Given the description of an element on the screen output the (x, y) to click on. 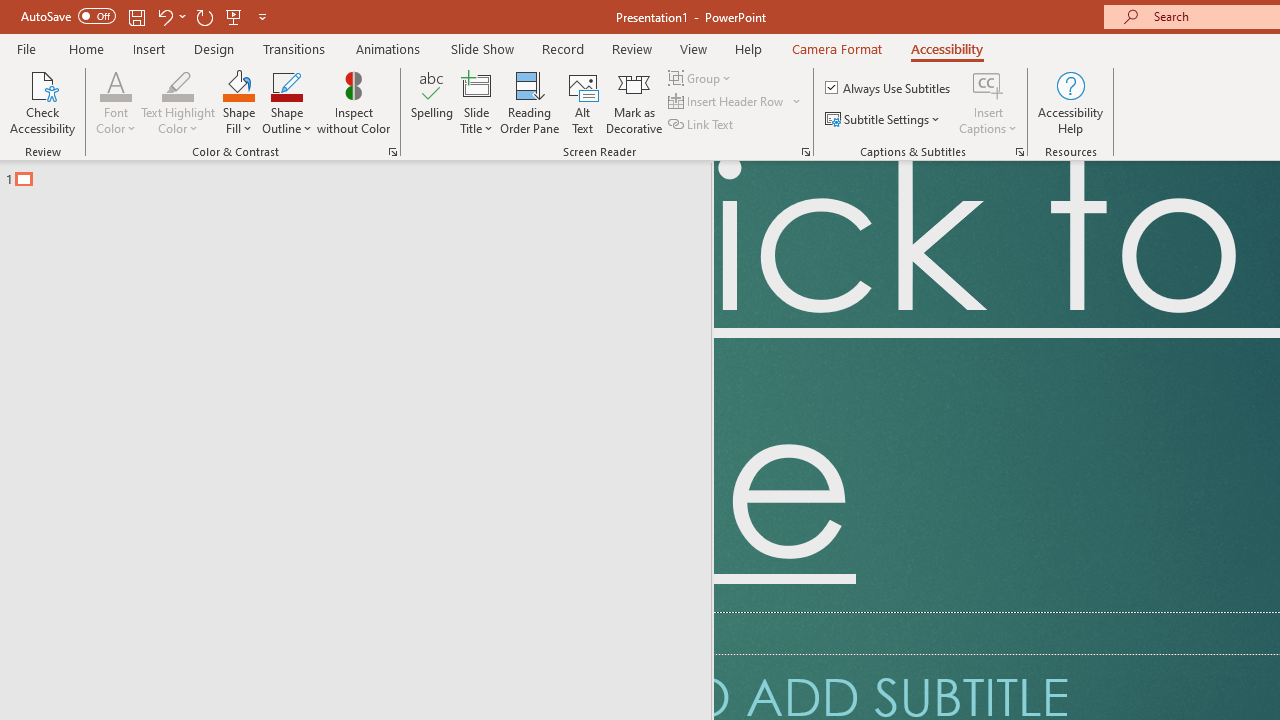
Accessibility Help (1070, 102)
Insert Header Row (735, 101)
Outline (364, 174)
Shape Fill Orange, Accent 2 (238, 84)
